Given the description of an element on the screen output the (x, y) to click on. 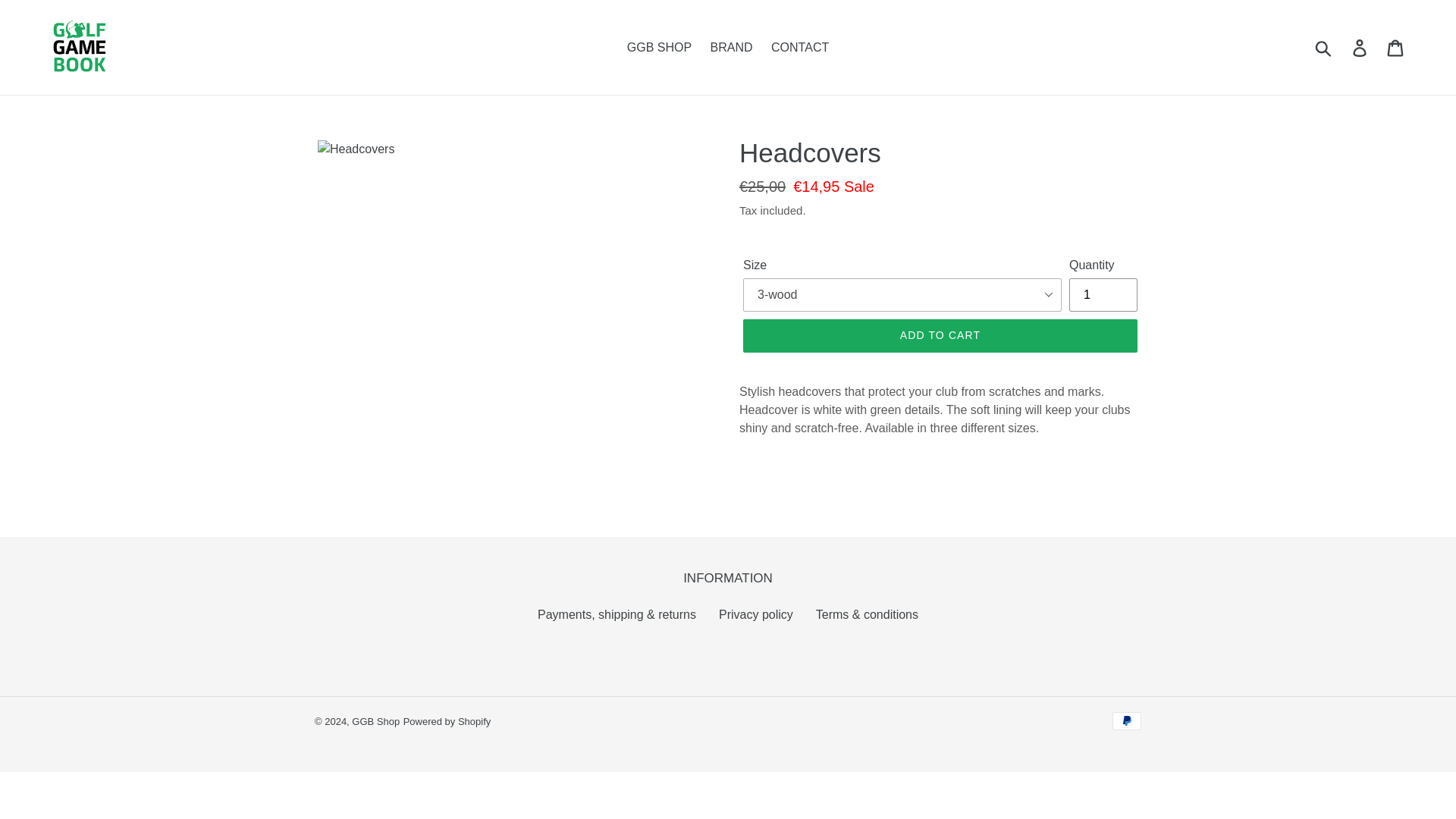
CONTACT (798, 47)
BRAND (731, 47)
Privacy policy (756, 614)
Submit (1324, 46)
GGB SHOP (659, 47)
Powered by Shopify (447, 721)
Log in (1360, 46)
GGB Shop (375, 721)
1 (1102, 295)
ADD TO CART (939, 335)
